Given the description of an element on the screen output the (x, y) to click on. 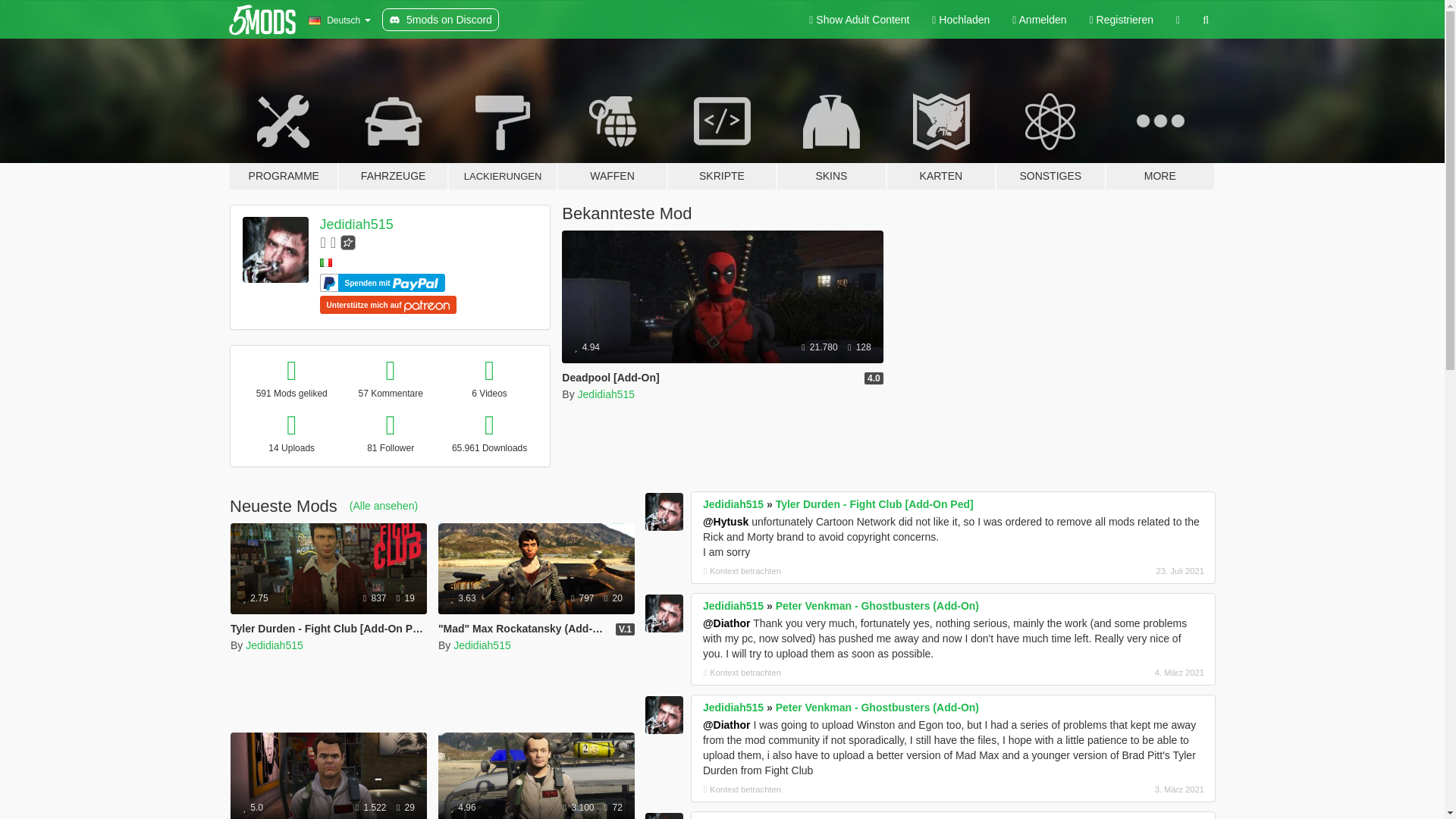
Jedidiah515 (606, 394)
Anmelden (1039, 19)
5mods on Discord (440, 19)
4.94 star rating (586, 347)
Registrieren (1122, 19)
21.780 Downloads (821, 347)
Hochladen (960, 19)
2.75 star rating (255, 597)
Show Adult Content (858, 19)
Rockstar Games Social Club (347, 242)
837 Downloads (375, 597)
Light mode (858, 19)
  Deutsch (338, 19)
4.0 (873, 378)
19 Likes (405, 597)
